Given the description of an element on the screen output the (x, y) to click on. 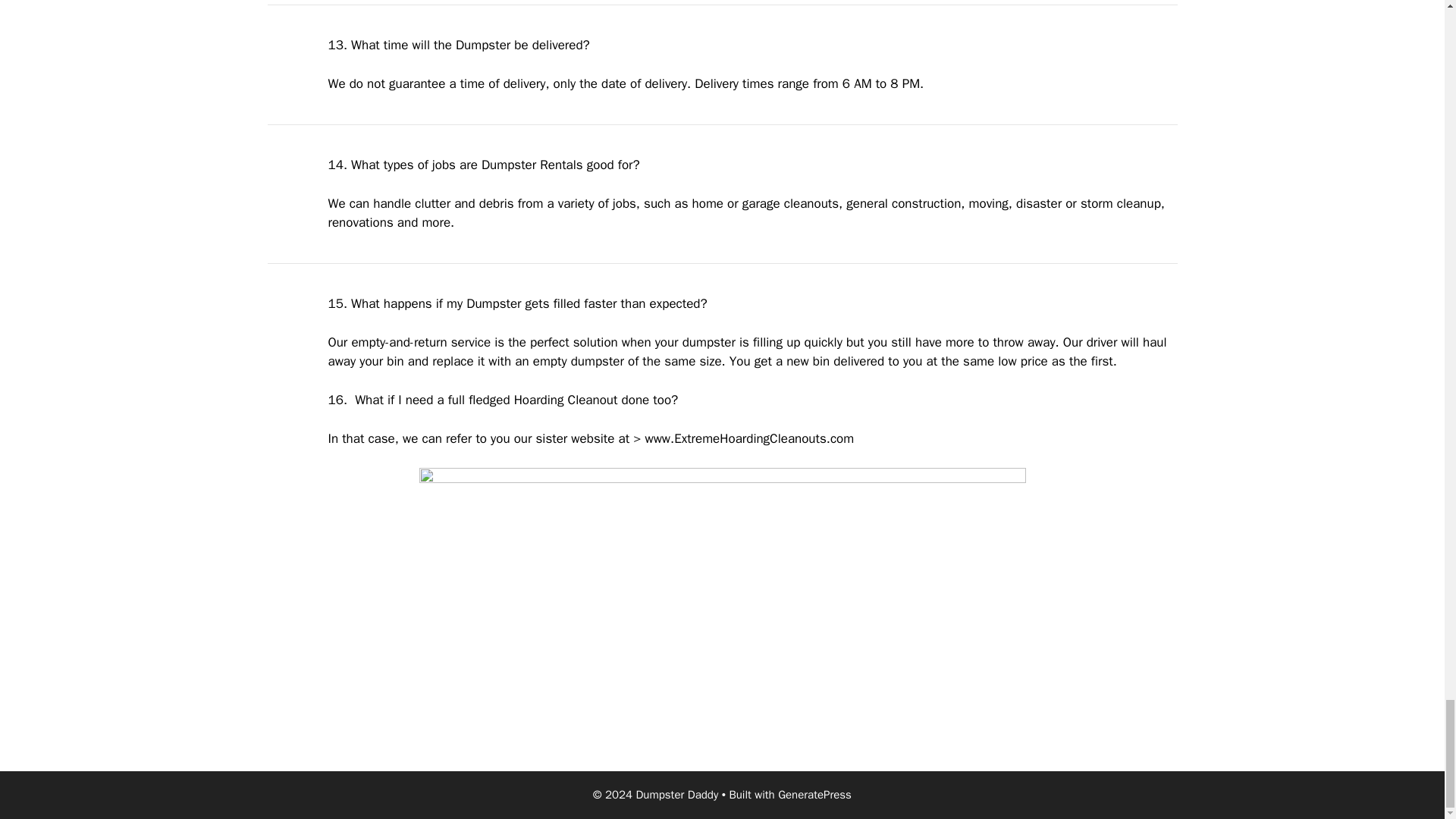
www.ExtremeHoardingCleanouts.com (749, 438)
GeneratePress (814, 794)
